Given the description of an element on the screen output the (x, y) to click on. 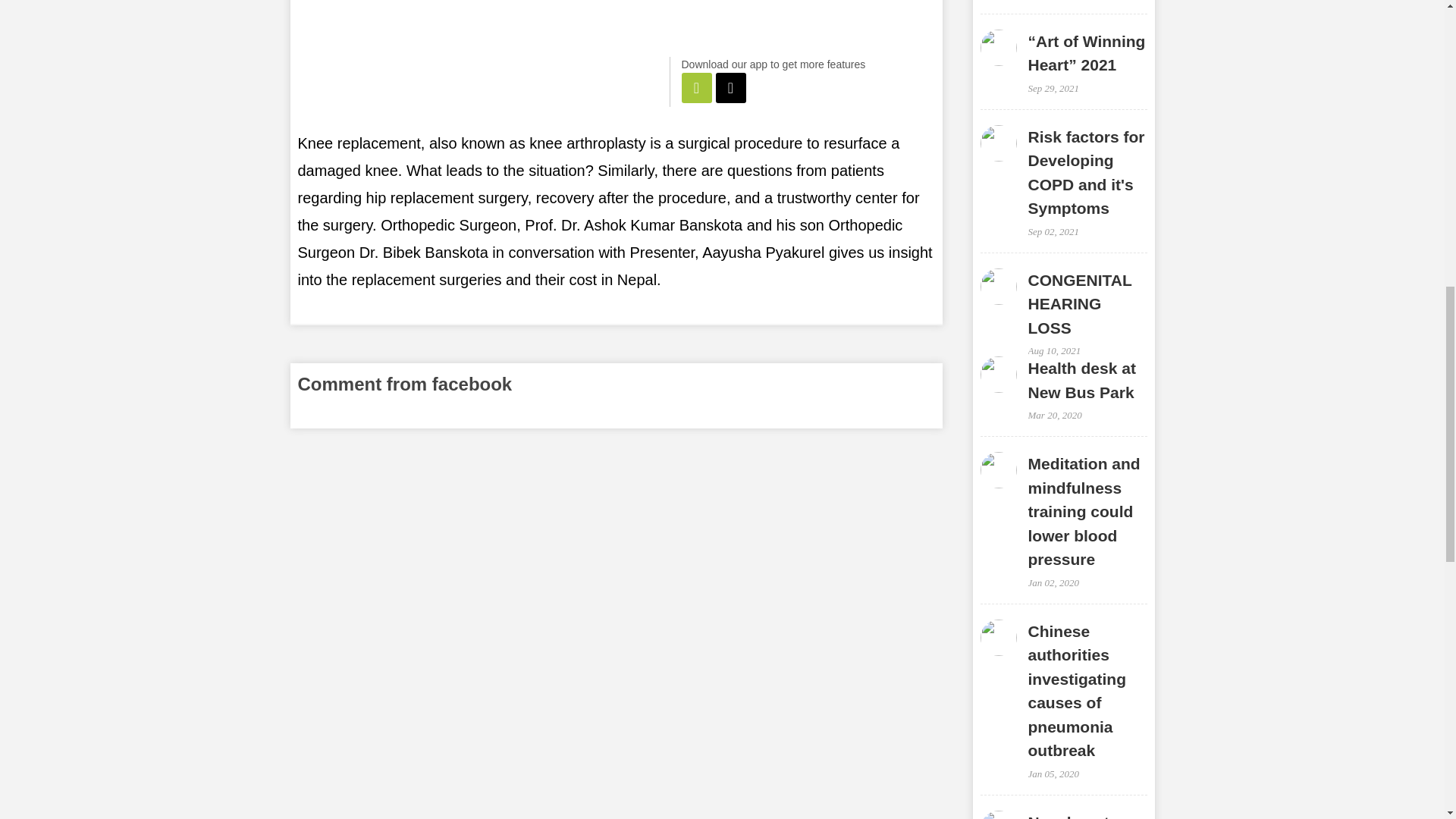
CONGENITAL HEARING LOSS (1079, 303)
Health desk at New Bus Park (1081, 380)
Risk factors for Developing COPD and it's Symptoms (1085, 172)
